Given the description of an element on the screen output the (x, y) to click on. 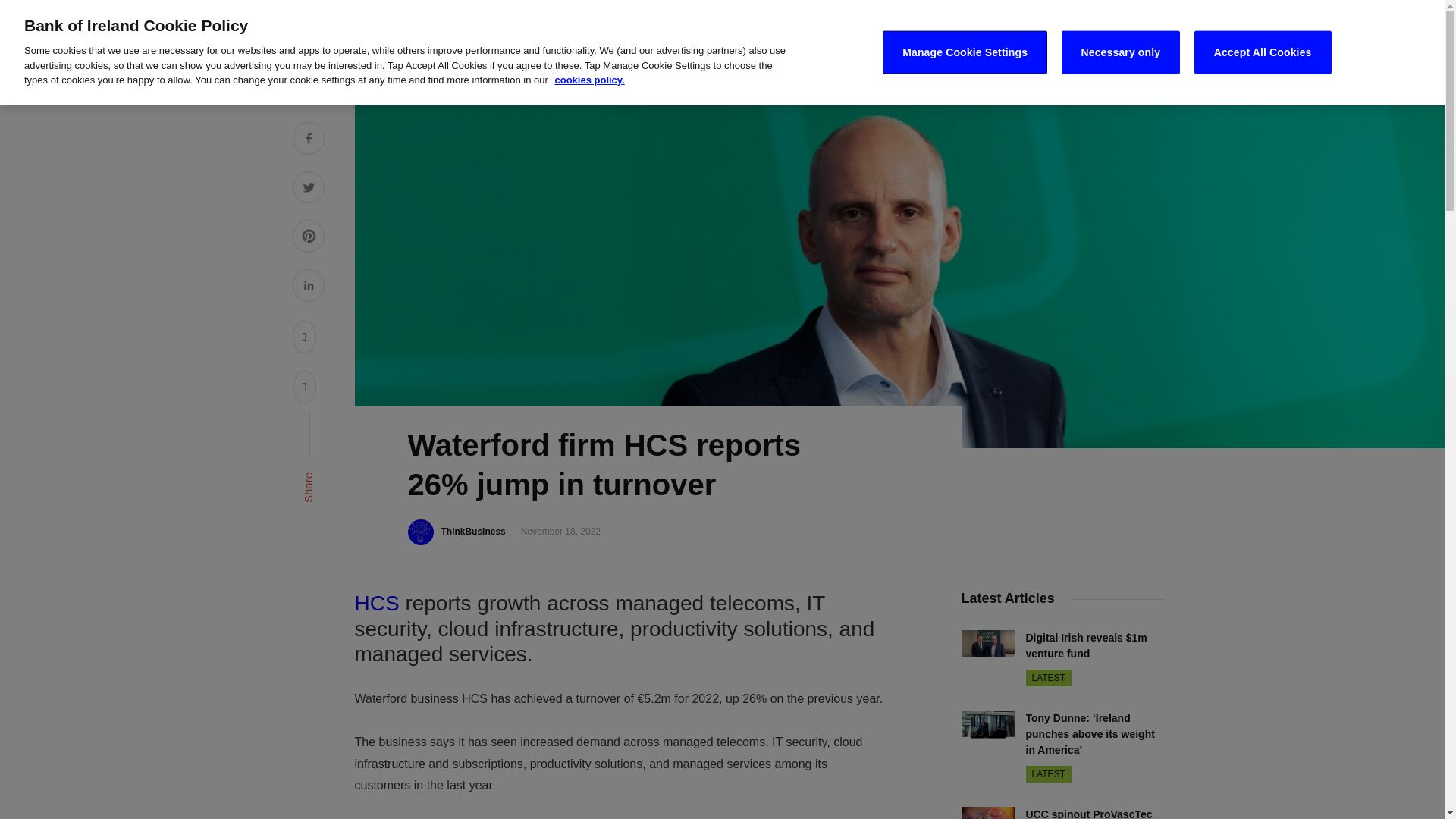
Share on Facebook (308, 140)
Share via email (304, 387)
Share on Twitter (308, 189)
Share on Reddit (304, 337)
Share on Linkedin (308, 287)
Share on Pinterest (308, 238)
Resources (946, 34)
November 18, 2022 at 9:10 am (560, 531)
Your Business (852, 34)
